Given the description of an element on the screen output the (x, y) to click on. 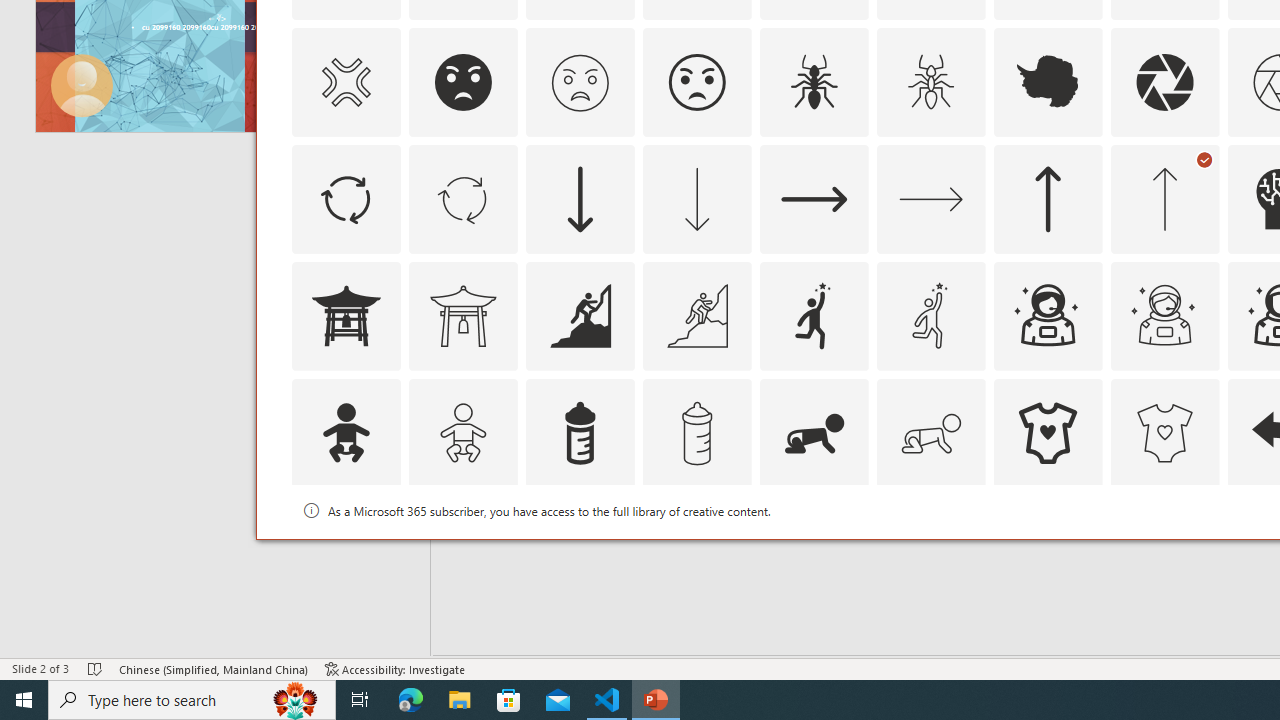
AutomationID: Icons_Baby_M (463, 432)
AutomationID: Icons_AsianTemple1 (345, 316)
AutomationID: Icons_BabyCrawling_M (930, 432)
AutomationID: Icons_Baby (345, 432)
AutomationID: Icons_ArrowRight_M (930, 198)
